Given the description of an element on the screen output the (x, y) to click on. 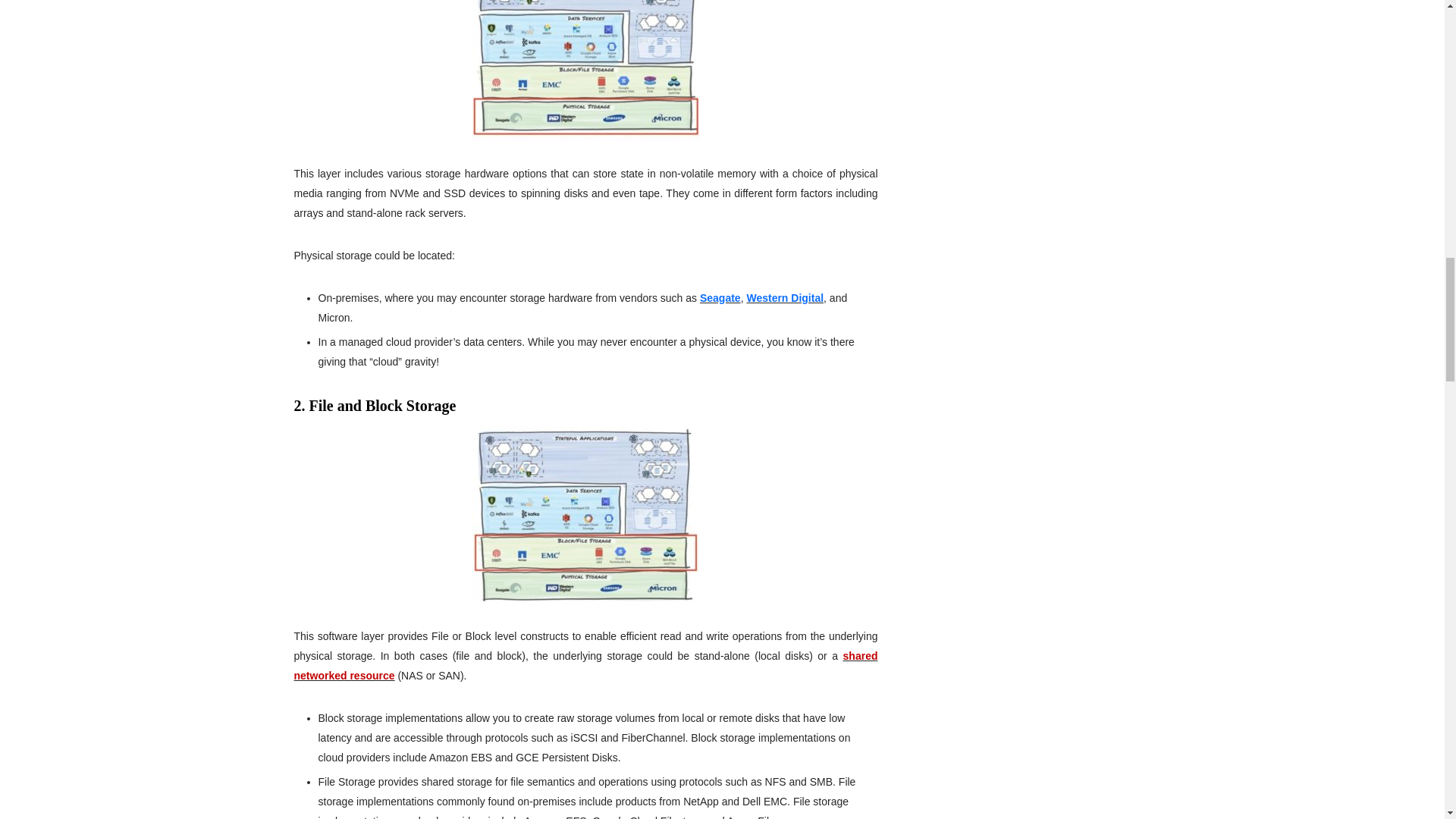
Seagate (720, 297)
Western Digital (784, 297)
